Given the description of an element on the screen output the (x, y) to click on. 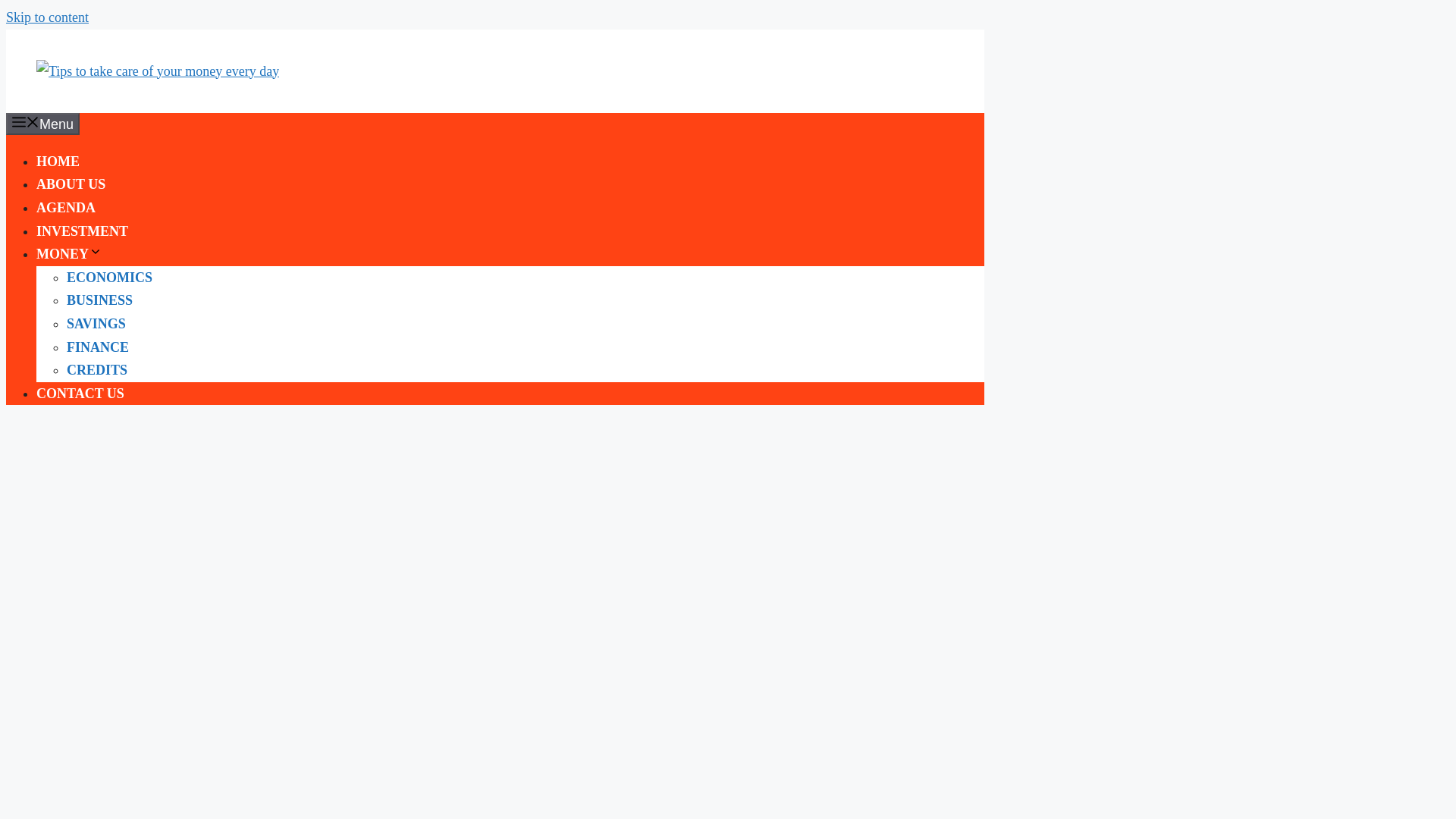
HOME (58, 160)
CREDITS (97, 369)
Skip to content (46, 17)
ECONOMICS (109, 277)
MONEY (68, 253)
AGENDA (66, 207)
ABOUT US (70, 183)
INVESTMENT (82, 231)
FINANCE (97, 346)
BUSINESS (99, 299)
Menu (42, 124)
Skip to content (46, 17)
SAVINGS (95, 323)
